Given the description of an element on the screen output the (x, y) to click on. 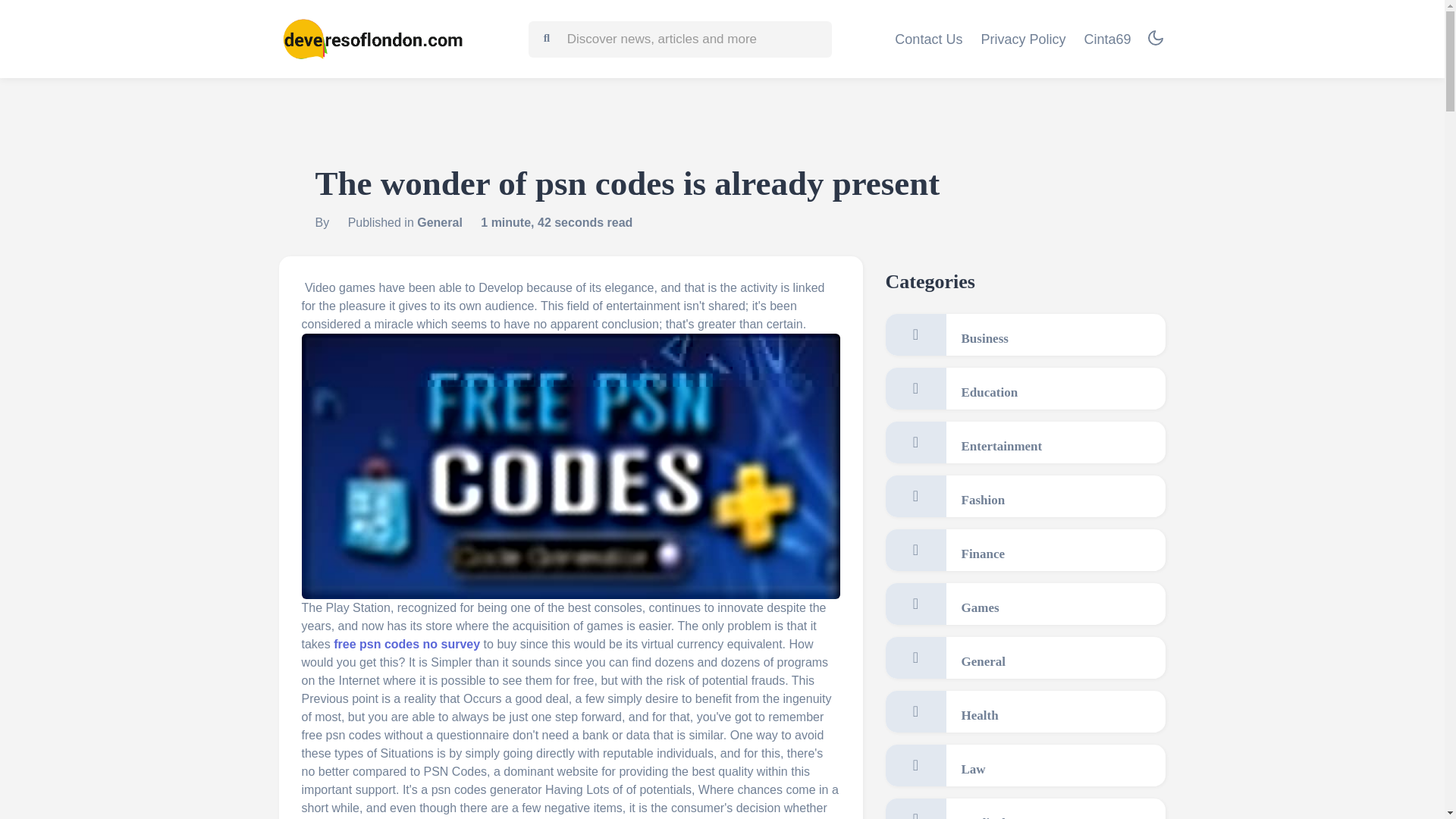
Education (1025, 388)
Privacy Policy (1022, 38)
Contact Us (928, 38)
Entertainment (1025, 442)
Business (1025, 334)
Games (1025, 603)
Health (1025, 711)
Finance (1025, 549)
General (1025, 657)
Fashion (1025, 495)
Cinta69 (1107, 38)
Law (1025, 765)
Medical (1025, 808)
General (439, 222)
free psn codes no survey (406, 644)
